Given the description of an element on the screen output the (x, y) to click on. 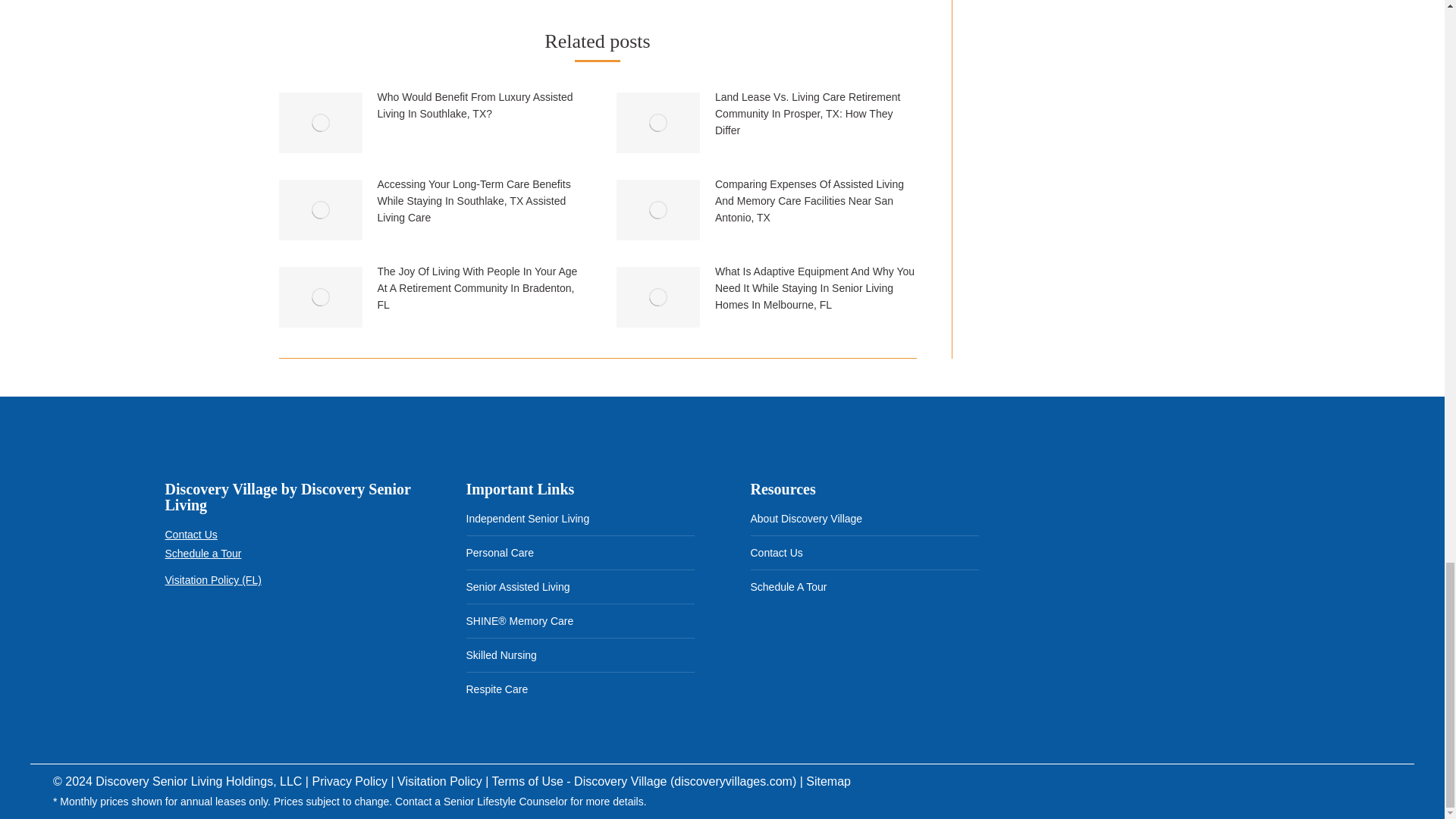
Equal-Housing-Opportunity-logo222 (189, 638)
Equal-Housing-Opportunity-logo22-150x144 (259, 639)
Discovery Map (1148, 567)
